Given the description of an element on the screen output the (x, y) to click on. 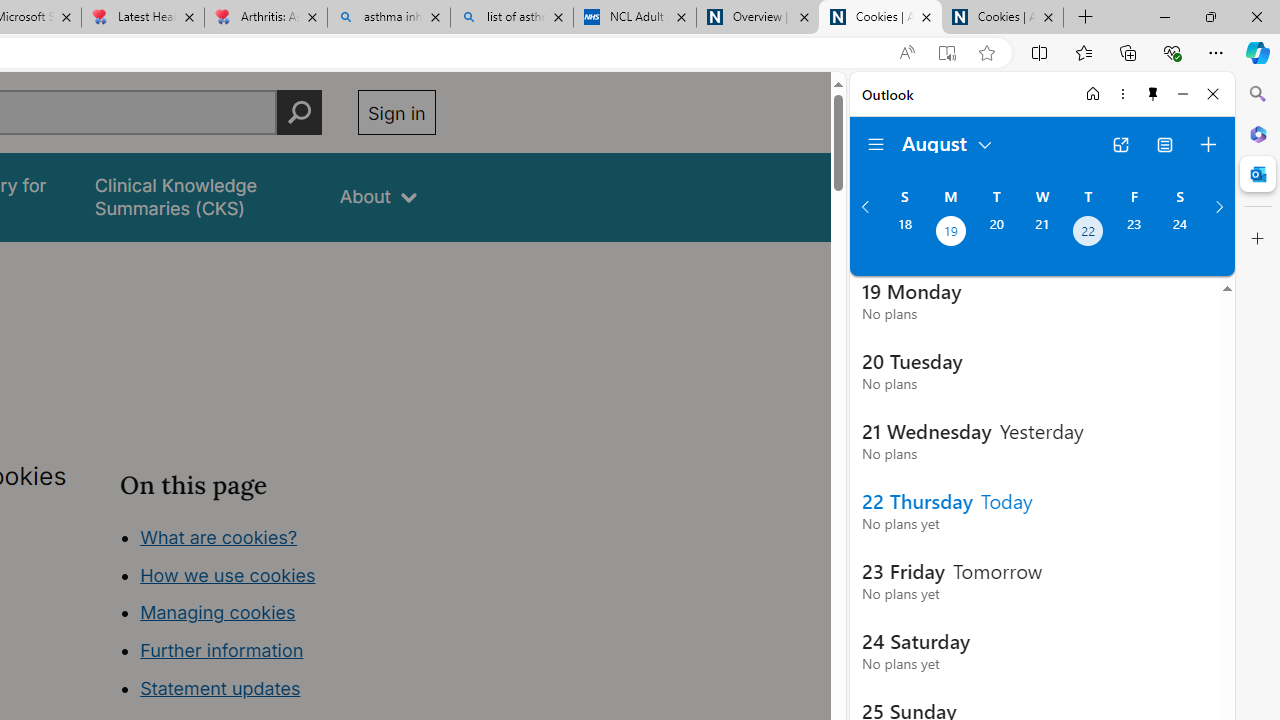
What are cookies? (218, 536)
Tuesday, August 20, 2024.  (996, 233)
false (198, 196)
How we use cookies (227, 574)
